Given the description of an element on the screen output the (x, y) to click on. 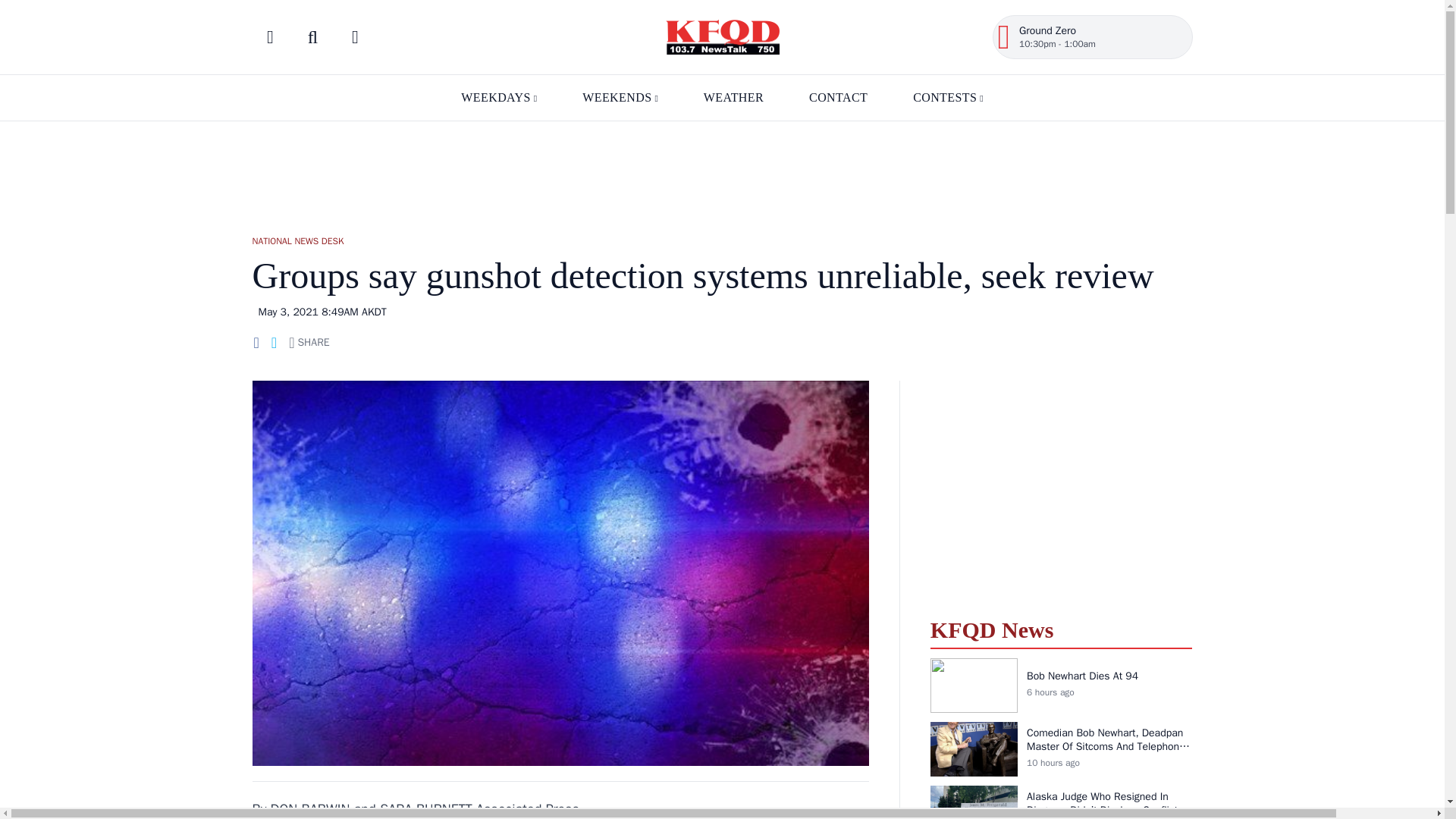
3rd party ad content (1060, 490)
3rd party ad content (721, 170)
